Given the description of an element on the screen output the (x, y) to click on. 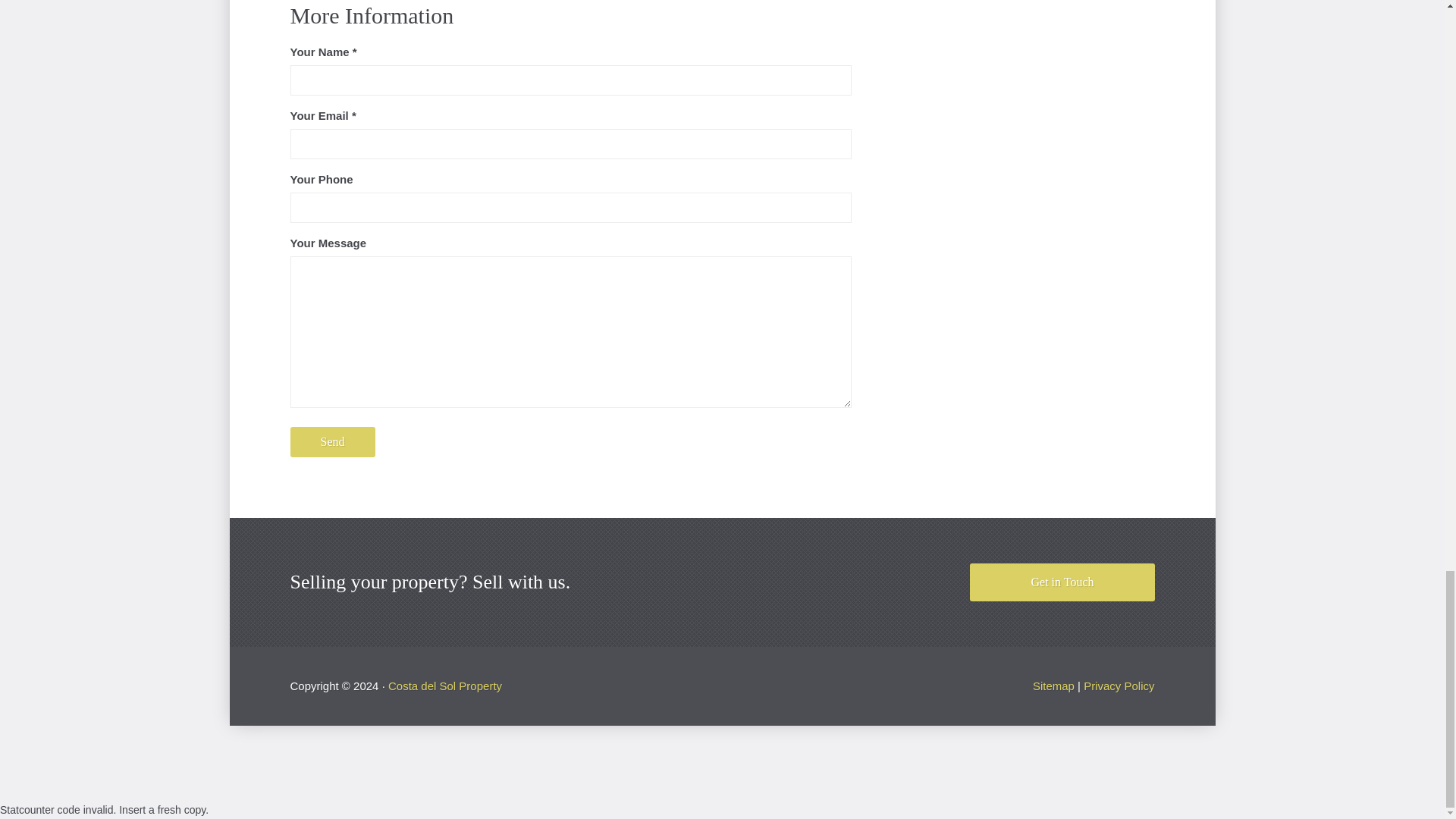
Sitemap (1053, 685)
Send (331, 441)
